Given the description of an element on the screen output the (x, y) to click on. 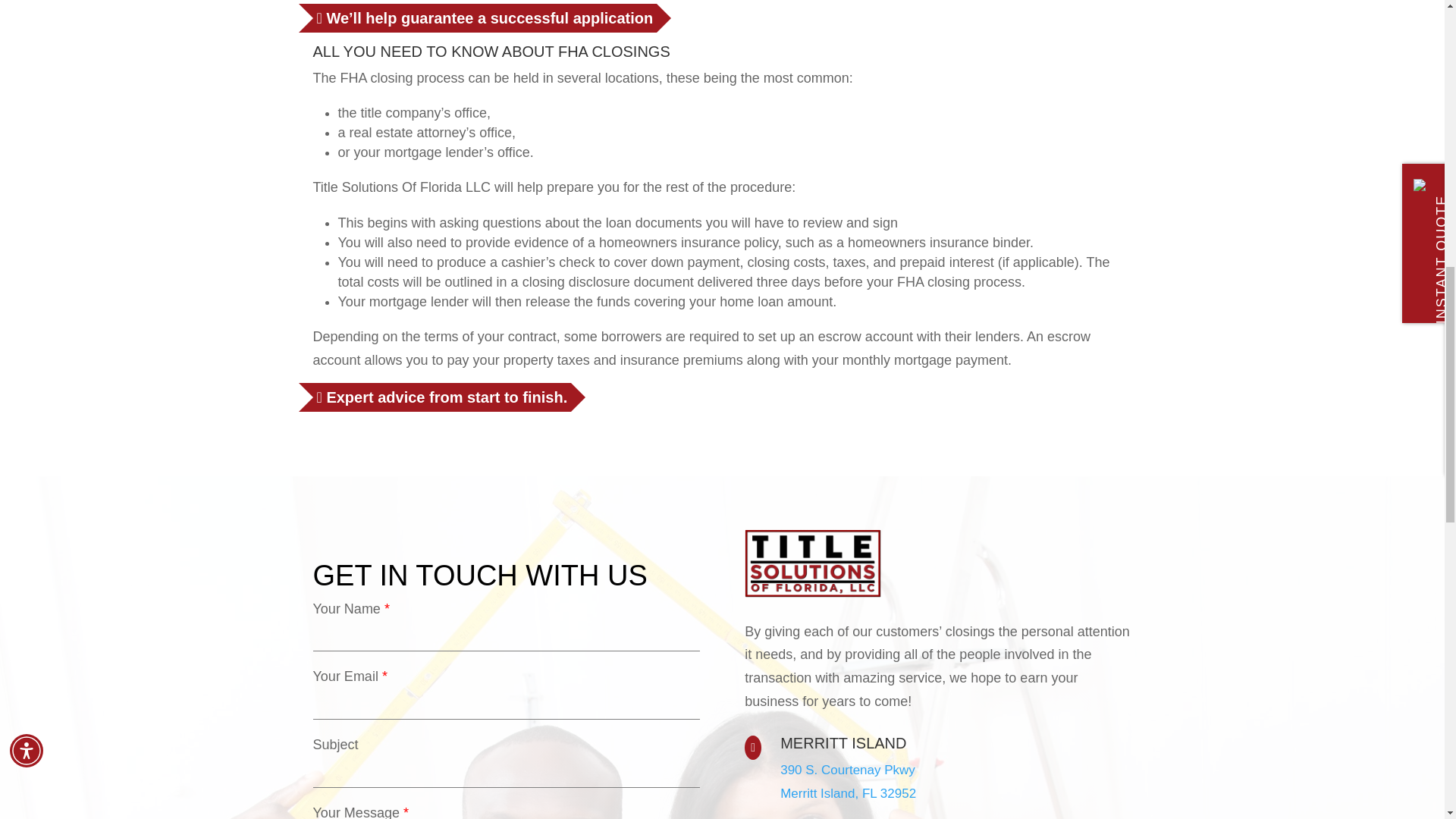
Merritt Island Google Maps (847, 781)
Title Solutions Of Florida, LLC (812, 563)
